Given the description of an element on the screen output the (x, y) to click on. 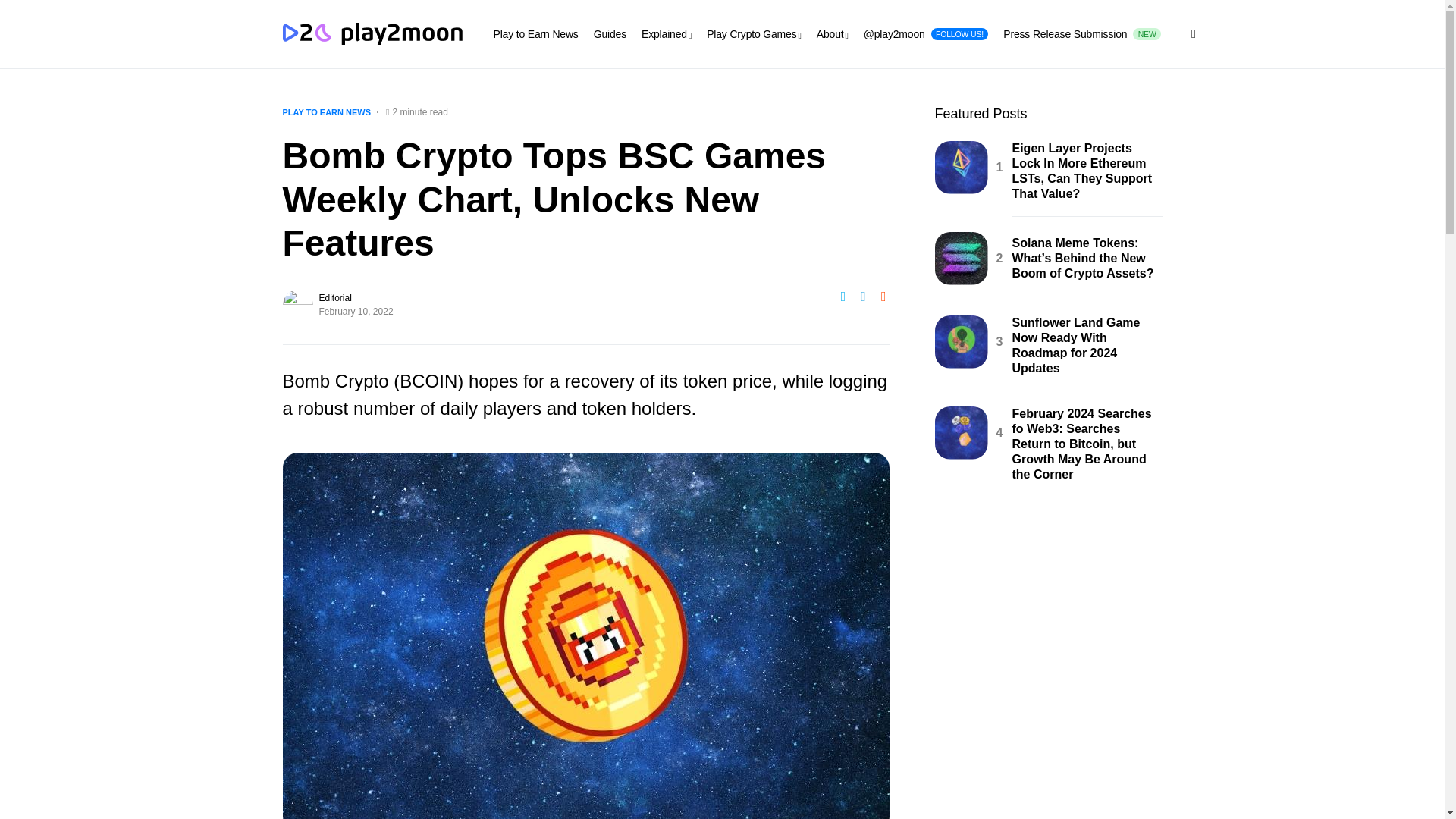
Play to Earn News (1081, 33)
Play Crypto Games (535, 33)
